Given the description of an element on the screen output the (x, y) to click on. 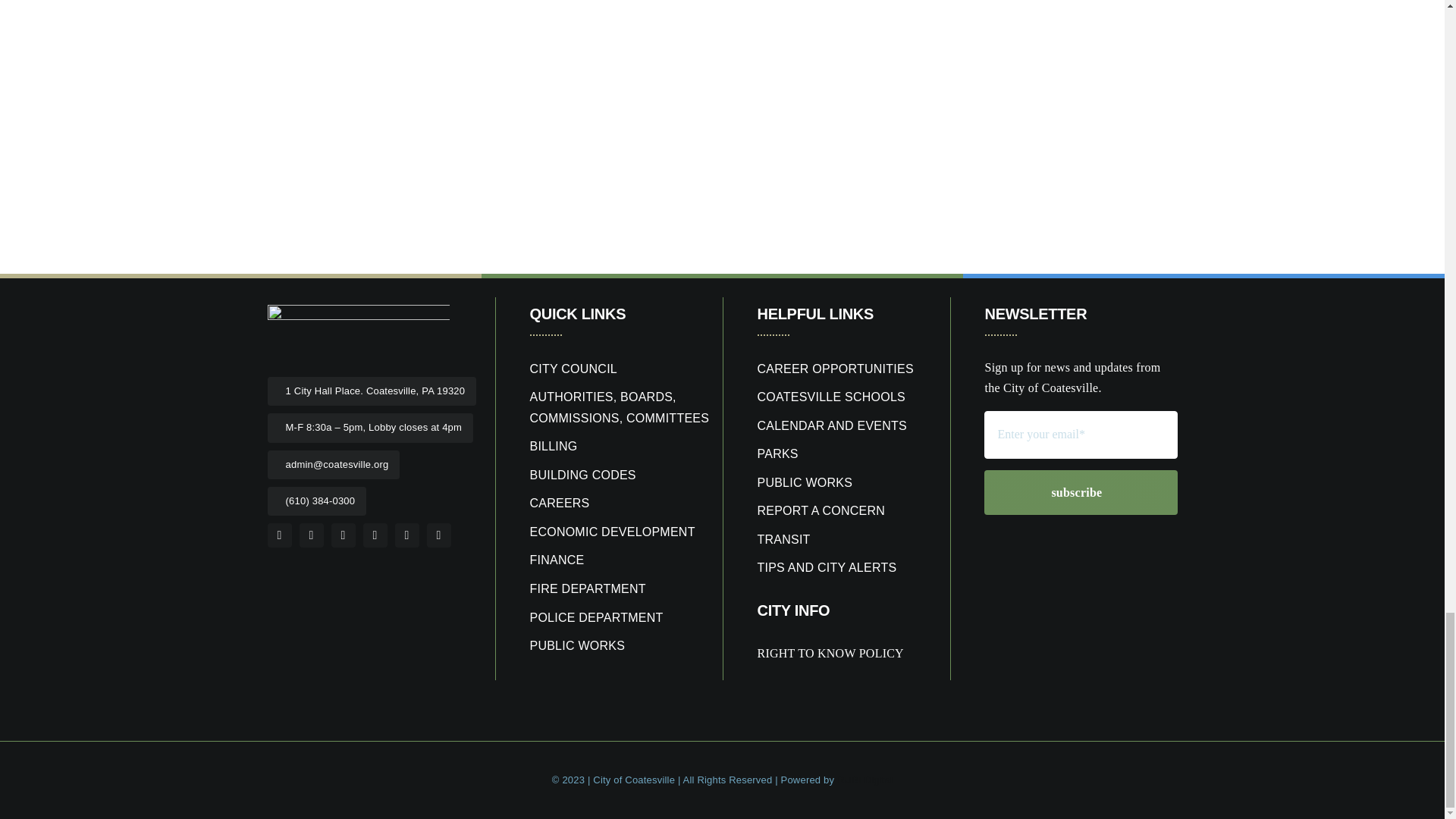
Instagram (374, 535)
Email (406, 535)
X (310, 535)
Facebook (278, 535)
LinkedIn (342, 535)
subscribe (1080, 466)
Phone (437, 535)
